Given the description of an element on the screen output the (x, y) to click on. 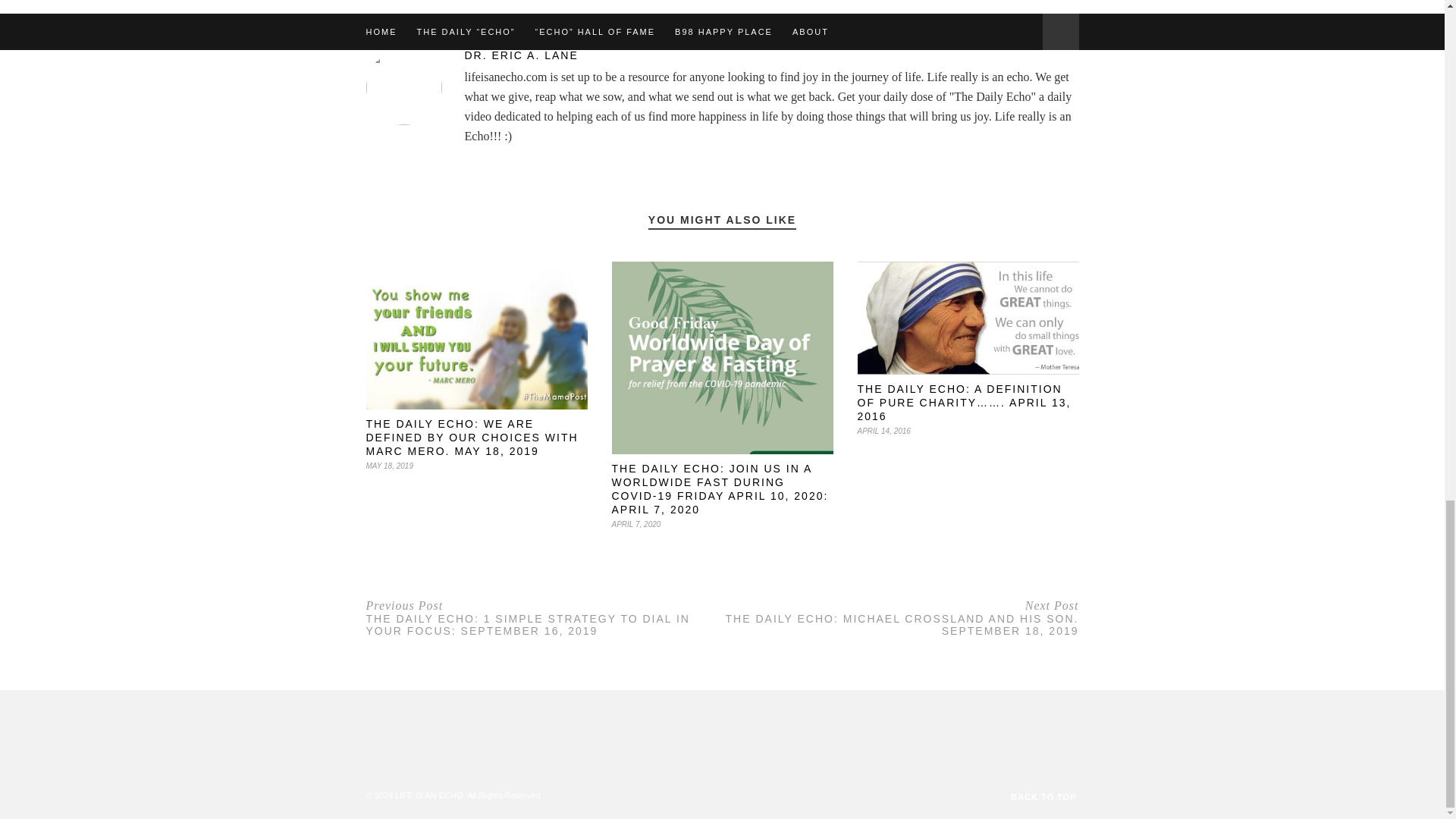
BACK TO TOP (1044, 796)
LIFE IS AN ECHO (428, 795)
DR. ERIC A. LANE (721, 55)
Posts by Dr. Eric A. Lane (721, 55)
